Given the description of an element on the screen output the (x, y) to click on. 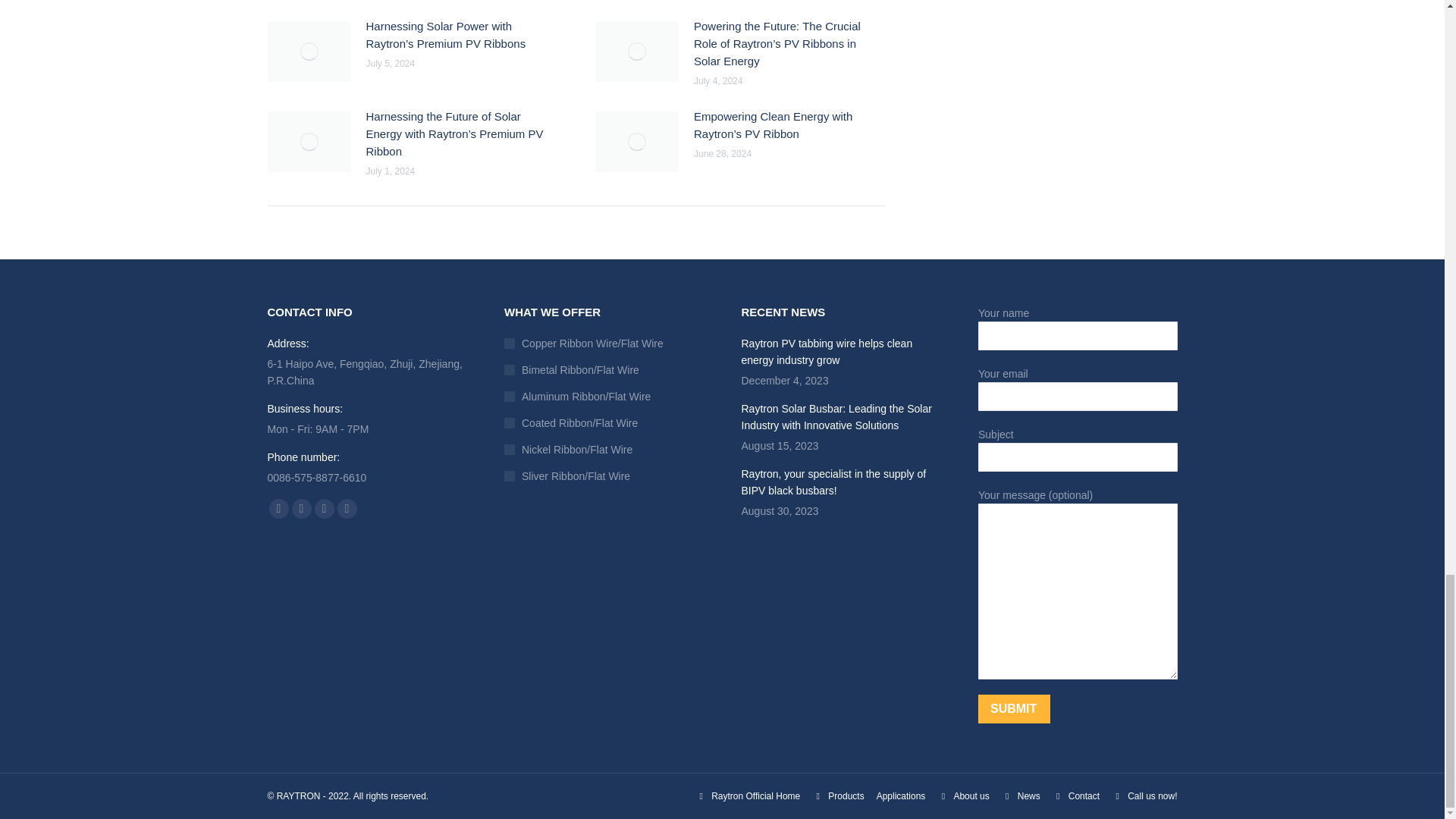
Submit (1013, 708)
